Given the description of an element on the screen output the (x, y) to click on. 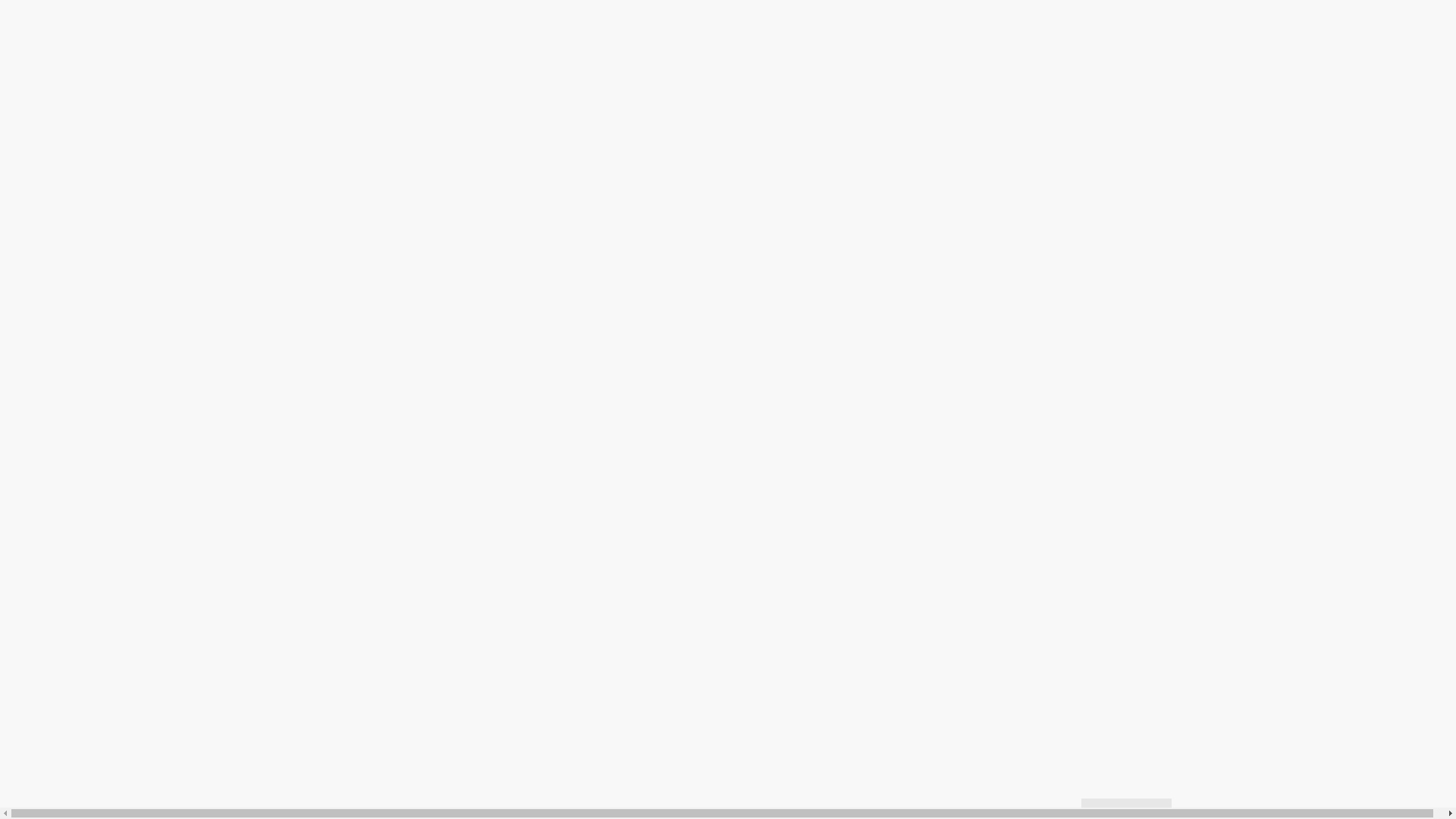
Bulk Element type: text (825, 385)
www.1844entertainment.com Element type: text (812, 267)
Close and accept Element type: text (354, 292)
WordPress Element type: text (741, 385)
info@1844entertainment.com Element type: text (644, 267)
Cookie Policy Element type: text (428, 370)
1844 ENTERTAINMENT Element type: text (358, 767)
